Given the description of an element on the screen output the (x, y) to click on. 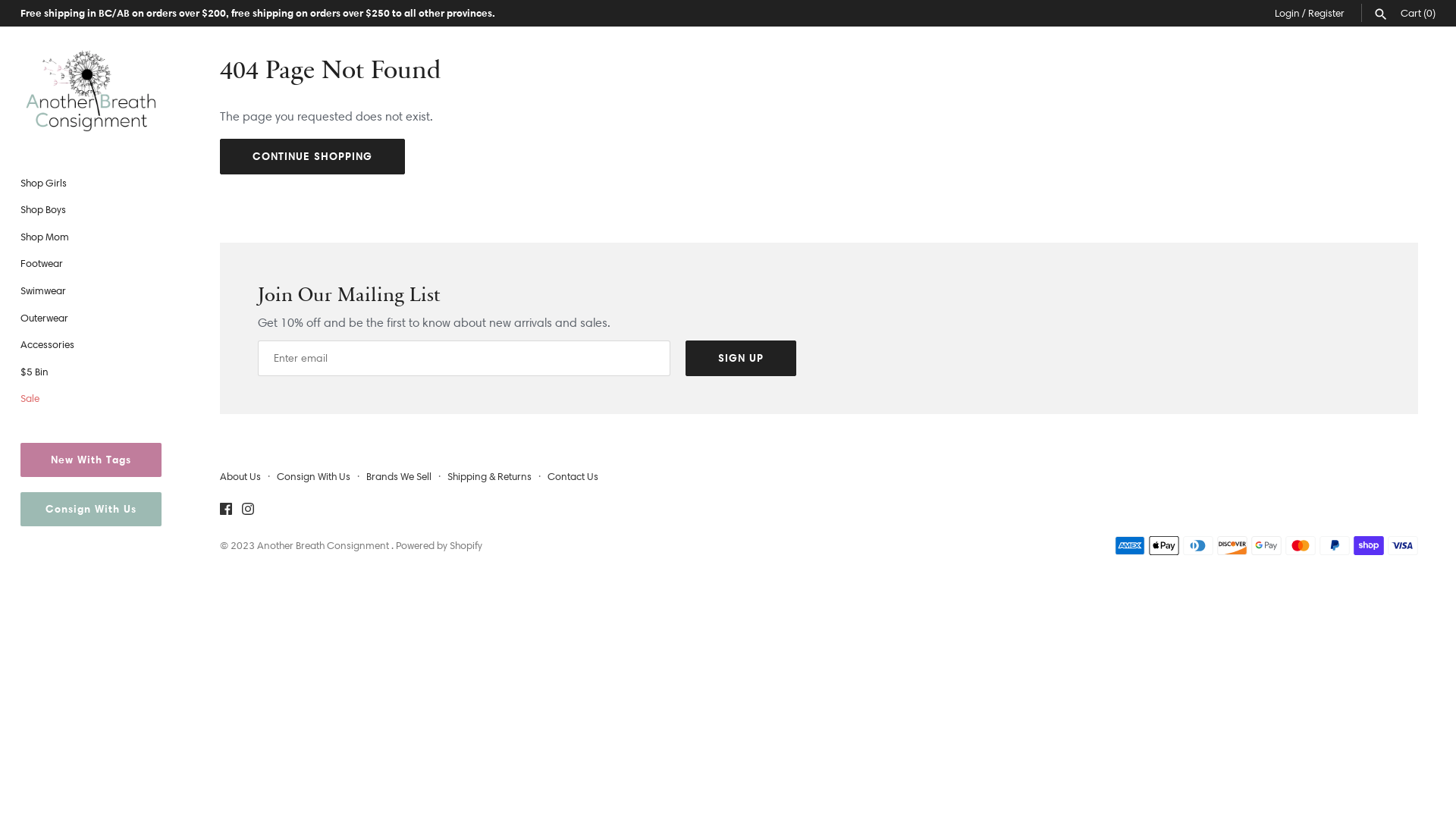
Instagram Element type: text (247, 511)
Consign With Us Element type: text (313, 476)
Contact Us Element type: text (572, 476)
Sale Element type: text (90, 398)
Consign With Us Element type: text (90, 509)
Another Breath Consignment  Element type: hover (91, 90)
CONTINUE SHOPPING Element type: text (311, 156)
Powered by Shopify Element type: text (438, 545)
Outerwear Element type: text (90, 318)
Shop Mom Element type: text (90, 237)
Login Element type: text (1286, 12)
About Us Element type: text (239, 476)
$5 Bin Element type: text (90, 371)
SIGN UP Element type: text (740, 358)
Cart (0) Element type: text (1417, 12)
Facebook Element type: text (225, 511)
Swimwear Element type: text (90, 290)
Footwear Element type: text (90, 263)
Shop Girls Element type: text (90, 183)
Accessories Element type: text (90, 344)
Another Breath Consignment Element type: text (324, 545)
New With Tags Element type: text (90, 459)
Shipping & Returns Element type: text (489, 476)
Shop Boys Element type: text (90, 209)
Register Element type: text (1326, 12)
Brands We Sell Element type: text (398, 476)
